Given the description of an element on the screen output the (x, y) to click on. 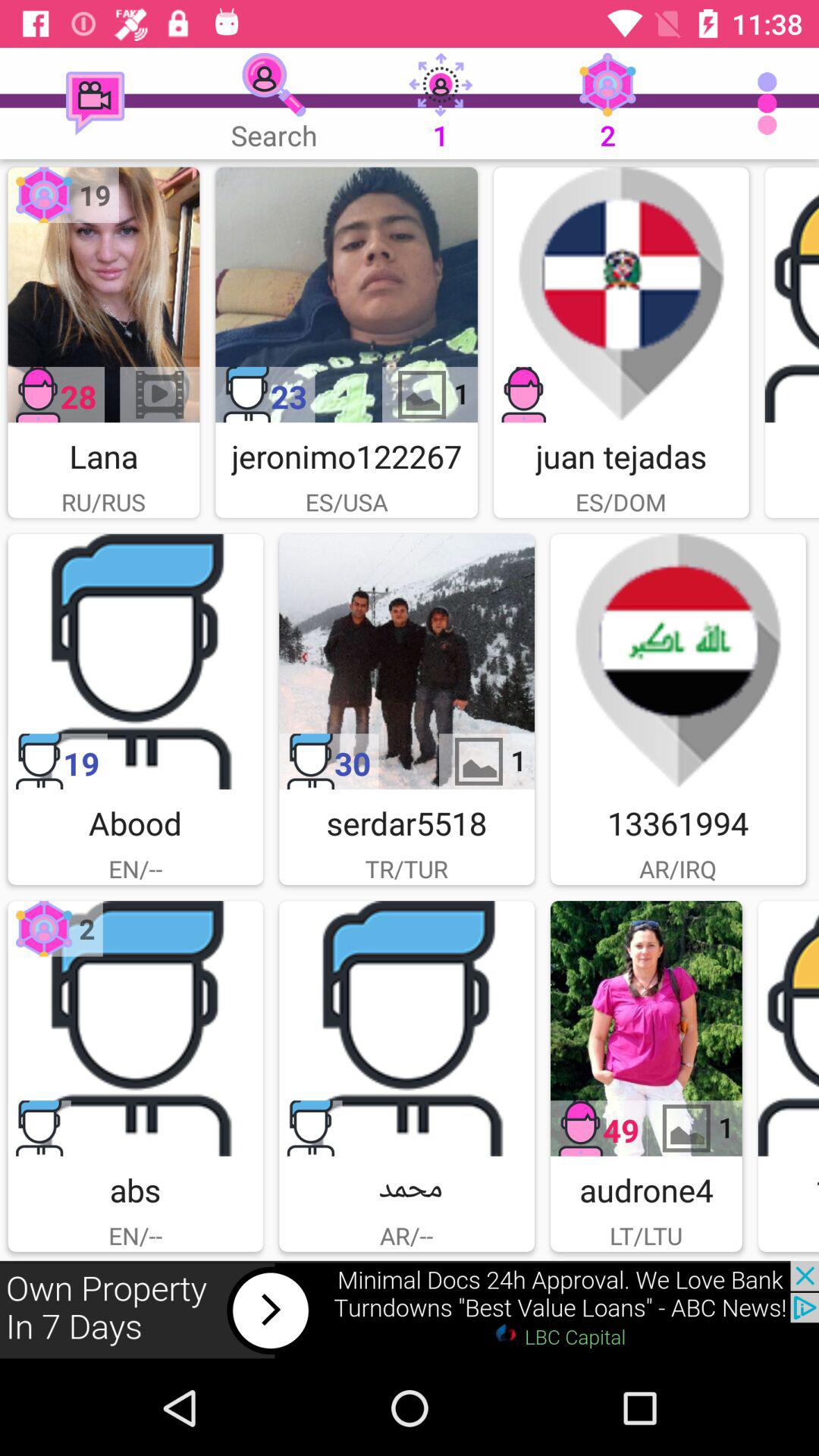
advertesment (406, 661)
